Given the description of an element on the screen output the (x, y) to click on. 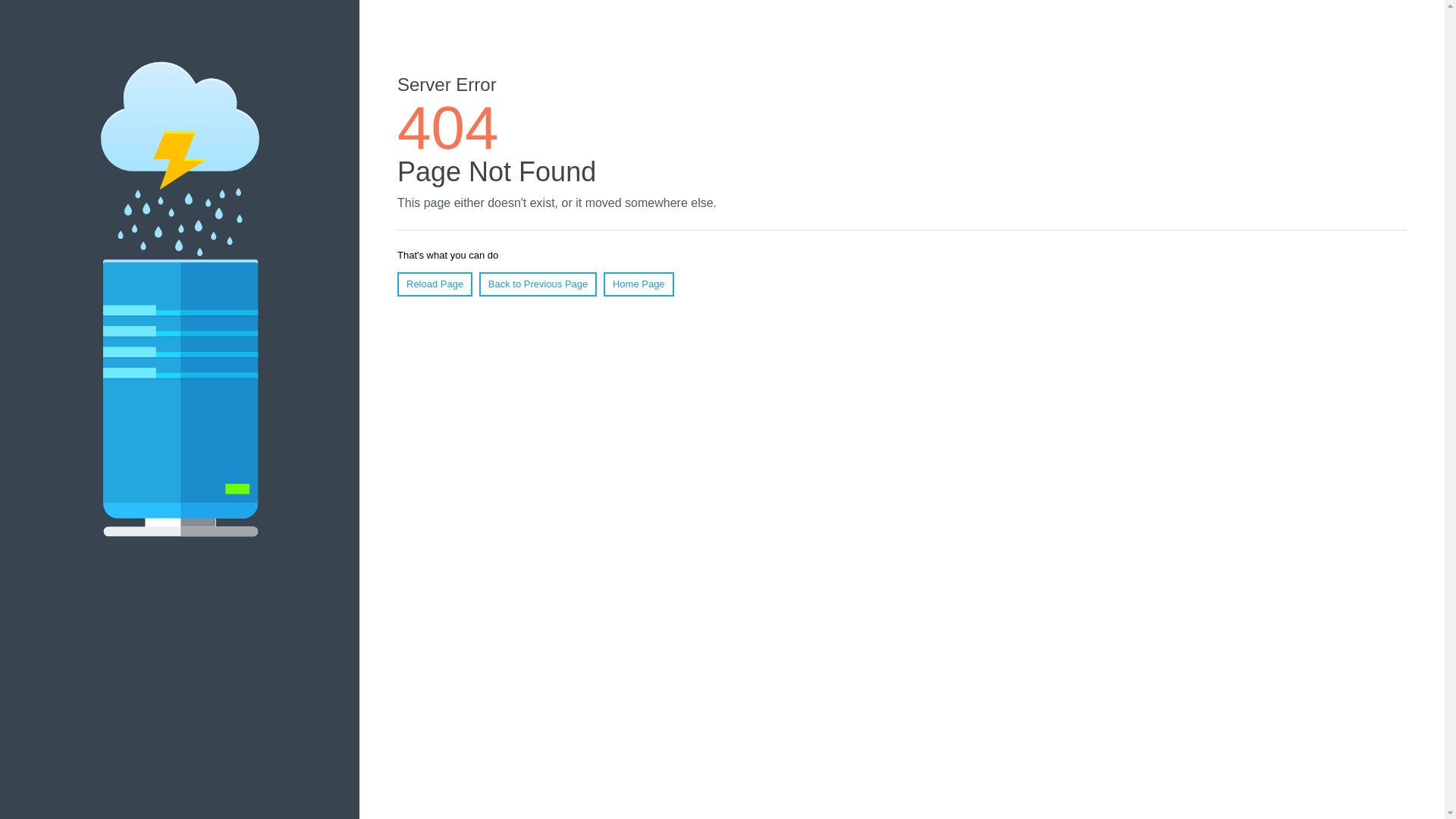
Home Page Element type: text (638, 284)
Back to Previous Page Element type: text (538, 284)
Reload Page Element type: text (434, 284)
